Given the description of an element on the screen output the (x, y) to click on. 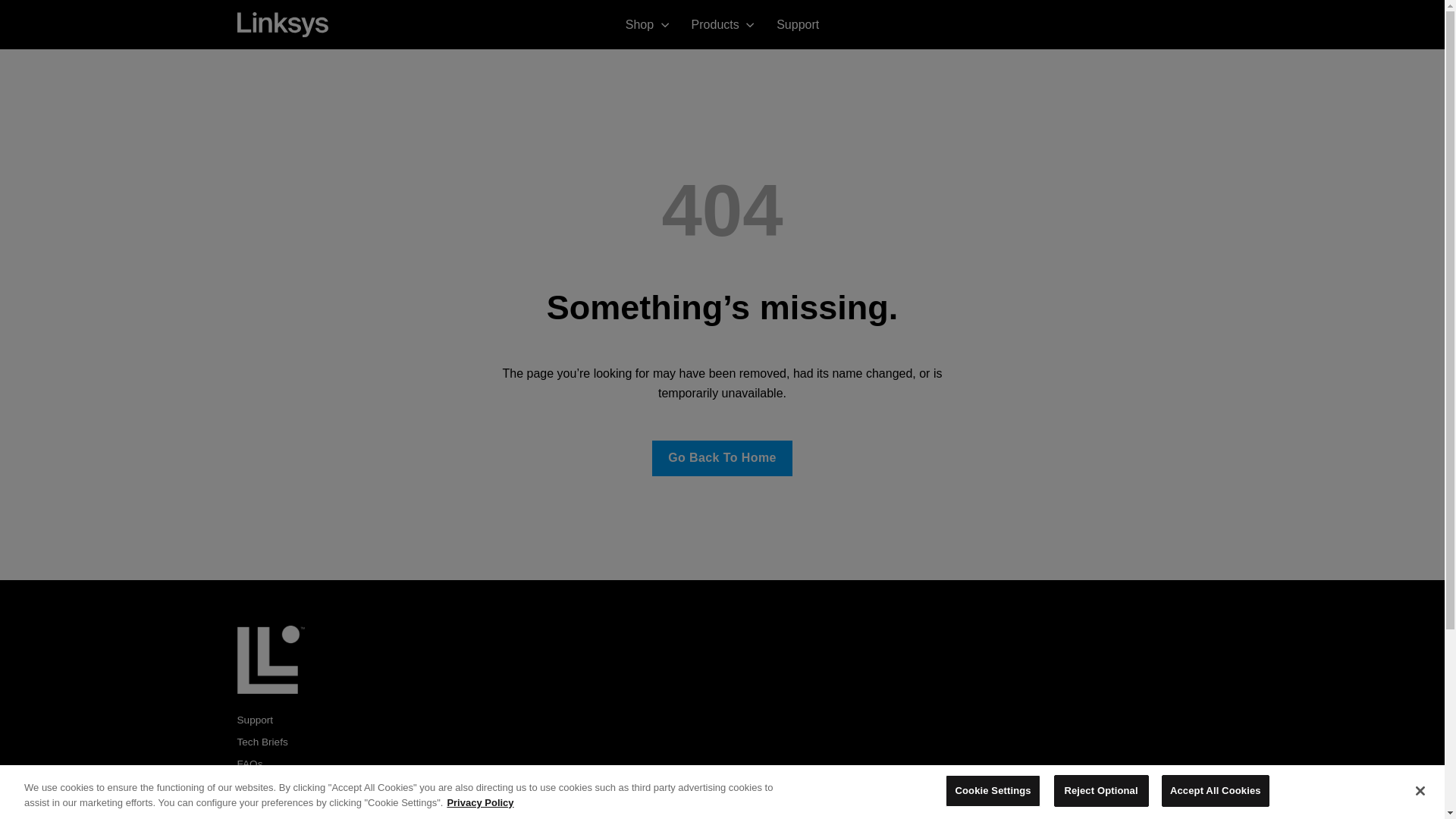
Go Back To Home (722, 457)
Support (797, 24)
